Given the description of an element on the screen output the (x, y) to click on. 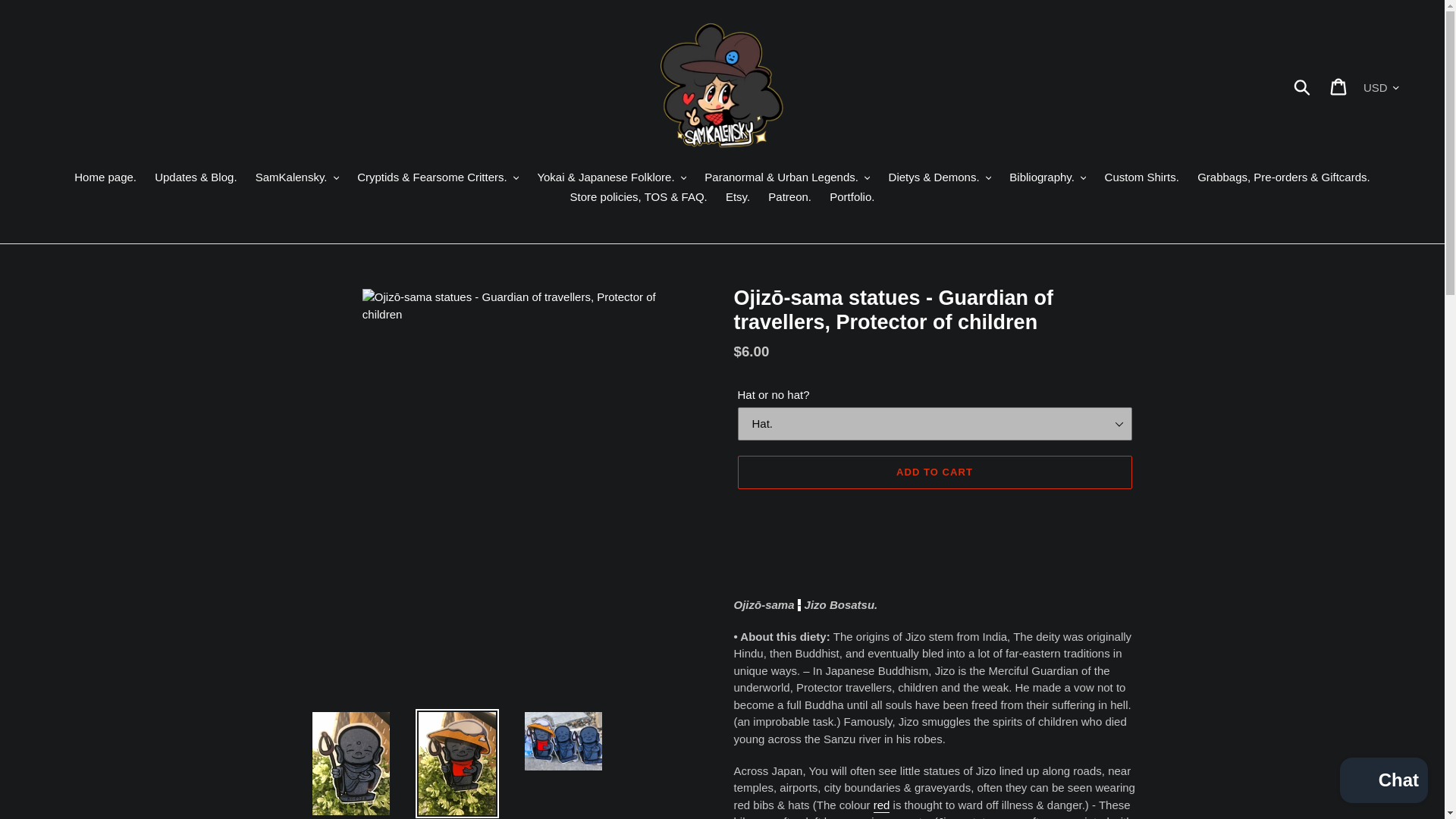
Submit (1303, 86)
Cart (1339, 86)
Shopify online store chat (1383, 781)
